Given the description of an element on the screen output the (x, y) to click on. 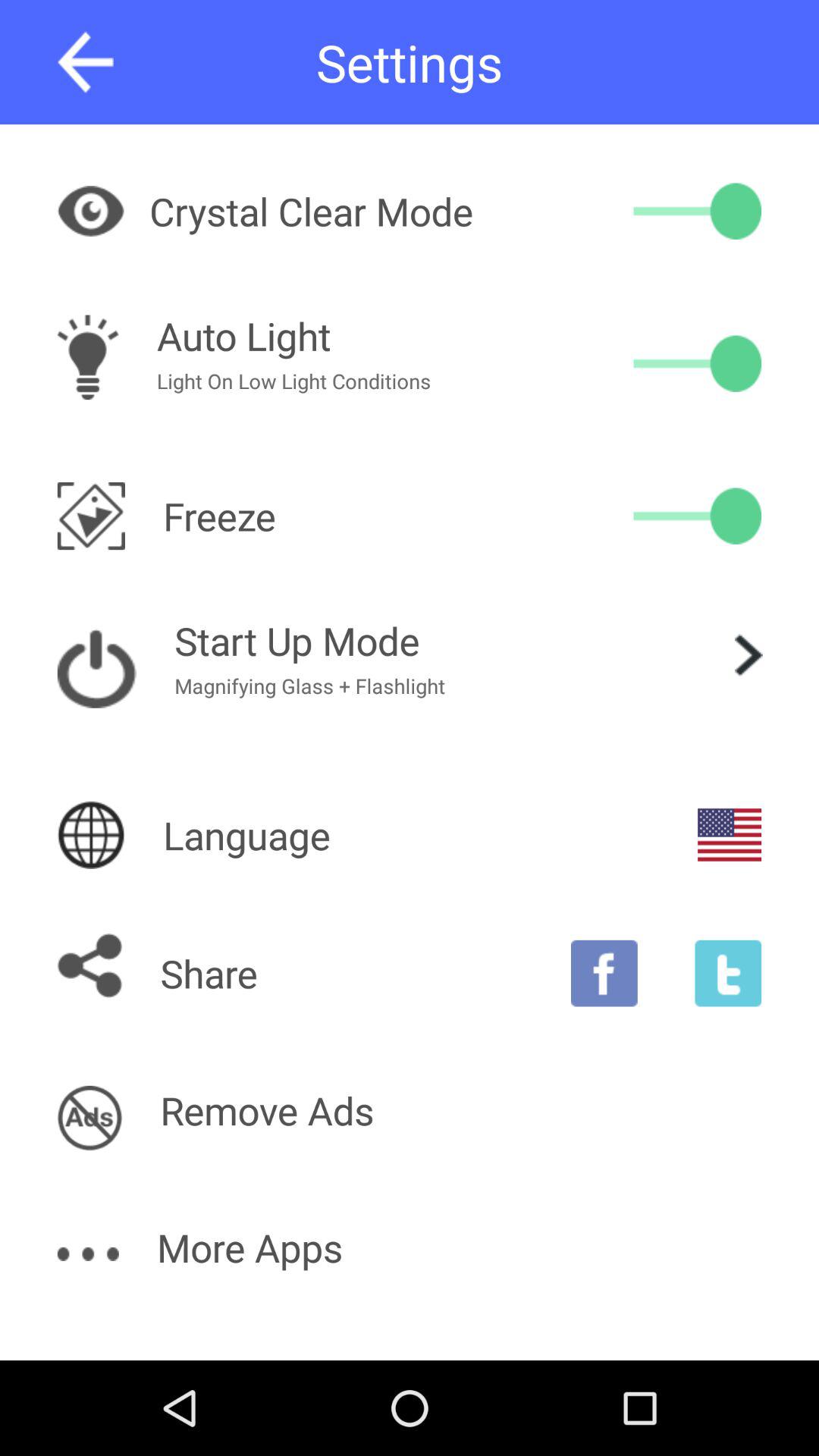
facebook (604, 973)
